Given the description of an element on the screen output the (x, y) to click on. 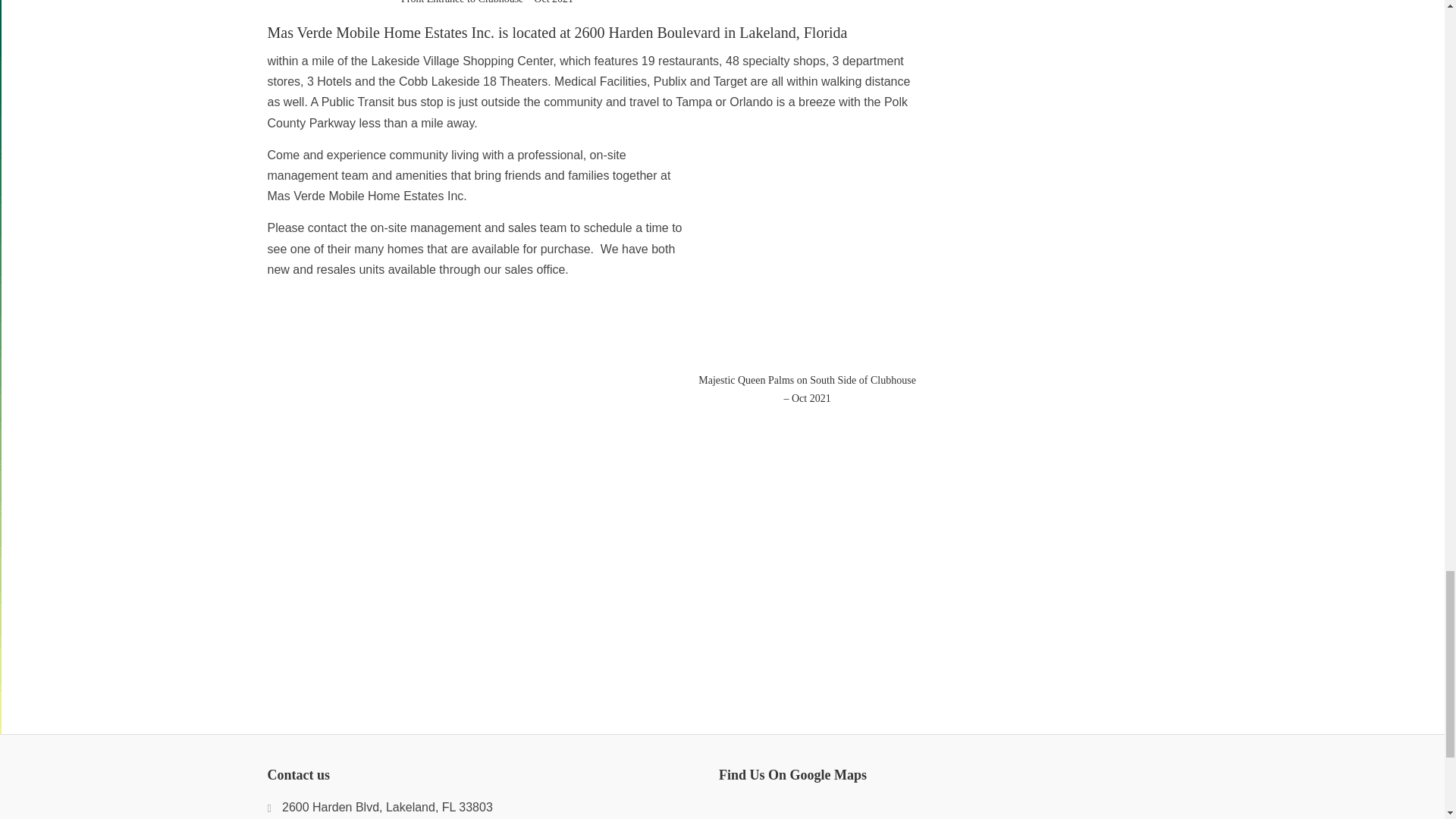
2600 Harden Blvd, Lakeland, FL 33803 (379, 806)
